Given the description of an element on the screen output the (x, y) to click on. 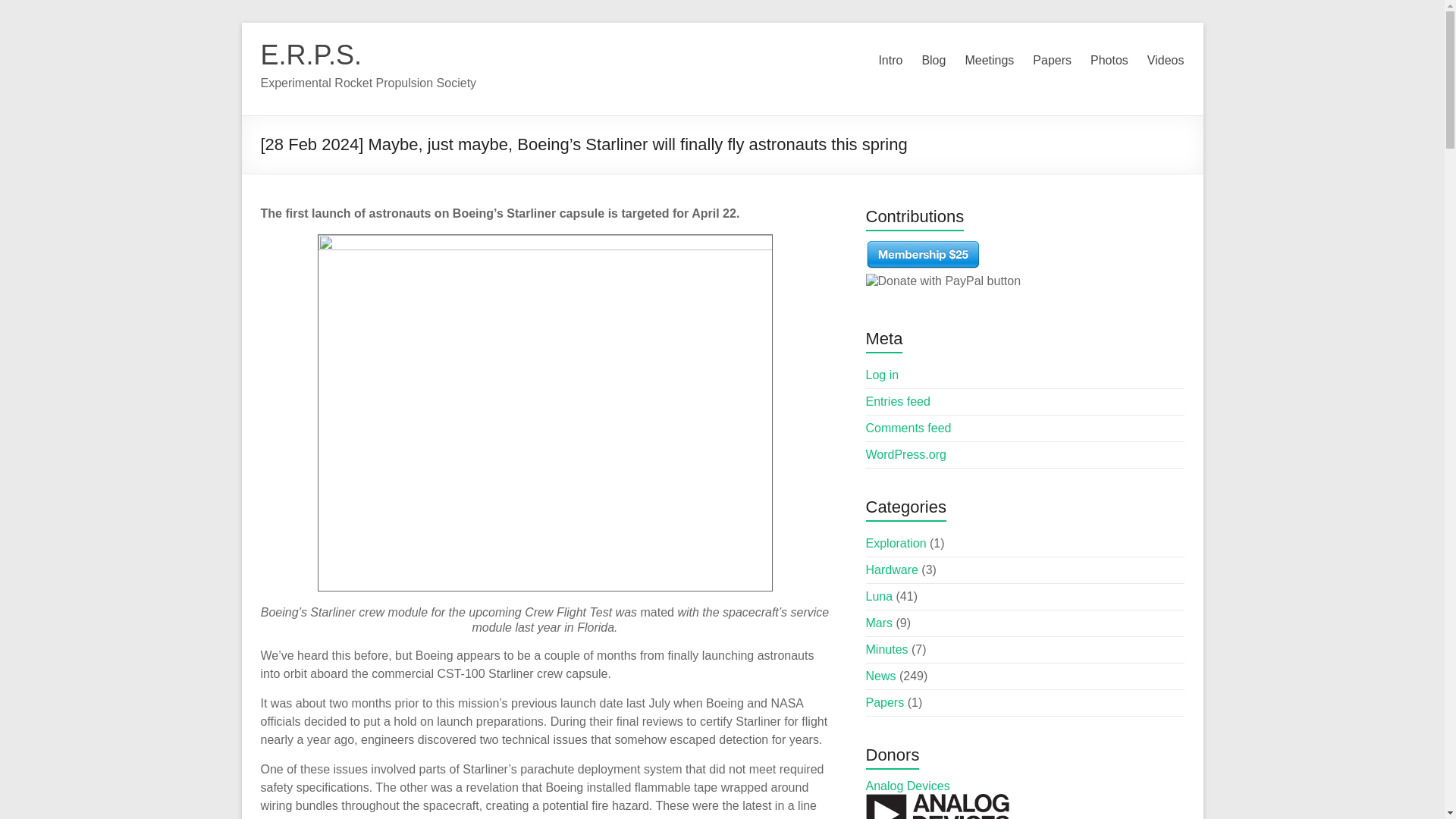
Hardware (892, 569)
E.R.P.S. (310, 54)
Analog Devices (908, 785)
Minutes (887, 649)
Log in (882, 374)
E.R.P.S. (310, 54)
PayPal - The safer, easier way to pay online! (944, 281)
PayPal - The safer, easier way to pay online! (922, 255)
Mars (879, 622)
Photos (1109, 60)
